Given the description of an element on the screen output the (x, y) to click on. 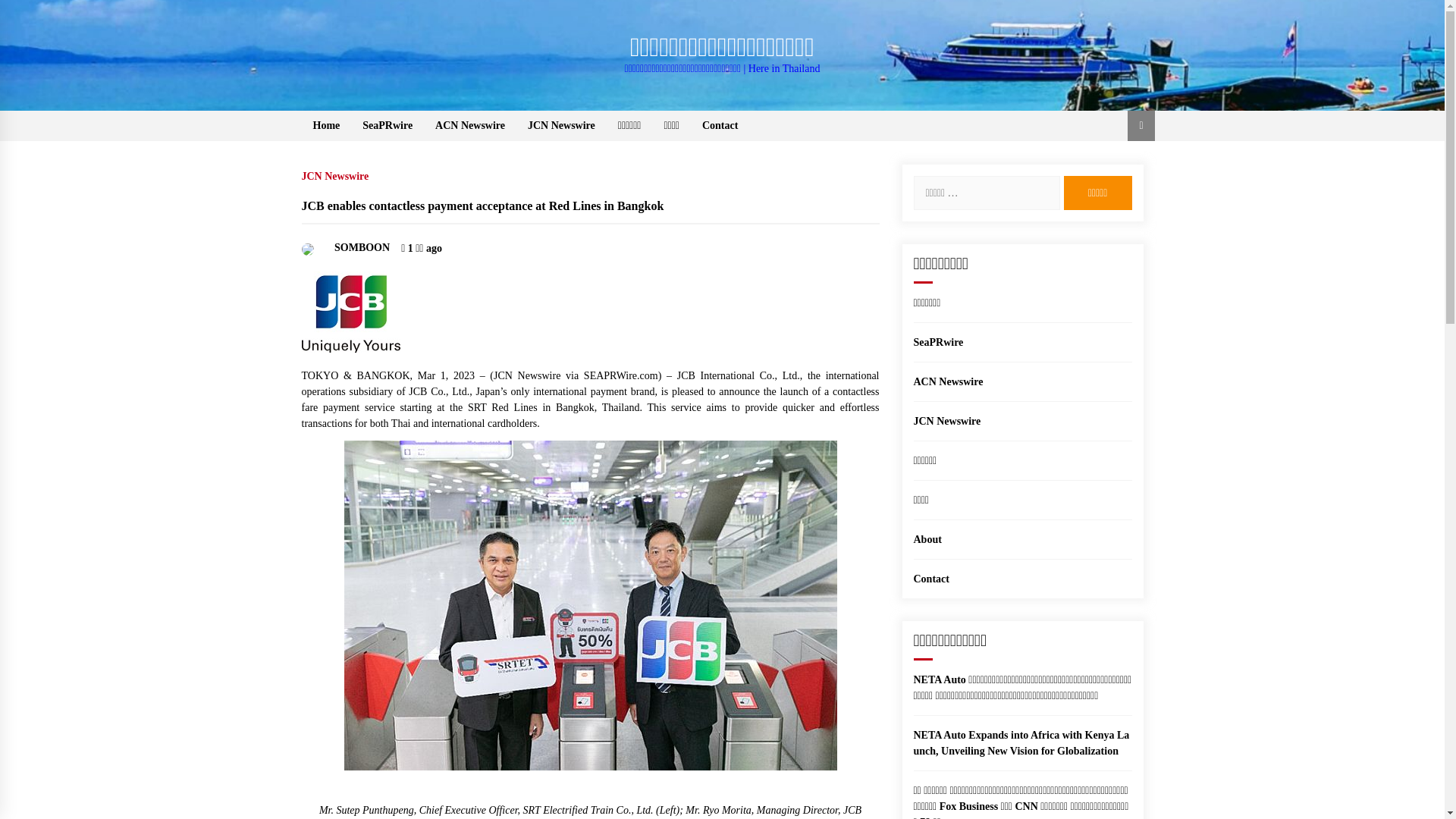
JCN Newswire (339, 172)
ACN Newswire (947, 381)
Contact (719, 125)
Home (326, 125)
SeaPRwire (937, 342)
JCN Newswire (561, 125)
ACN Newswire (469, 125)
About (926, 539)
JCN Newswire (945, 420)
SeaPRwire (386, 125)
SOMBOON (345, 247)
Contact (930, 578)
